Given the description of an element on the screen output the (x, y) to click on. 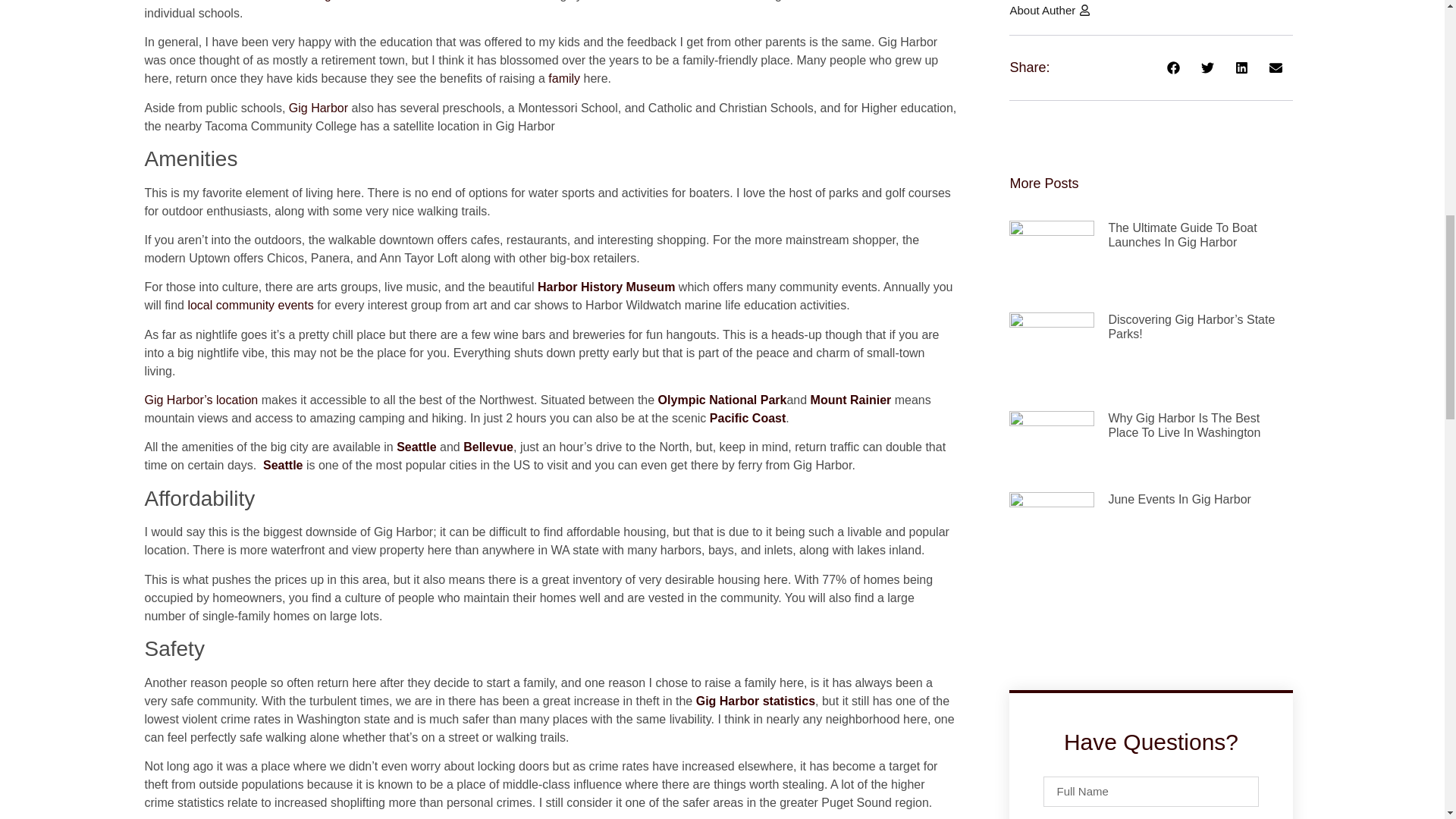
neighborhoods (348, 0)
local community events (250, 305)
Gig Harbor (317, 107)
Harbor History Museum (606, 286)
Olympic National Park (722, 399)
neighborhoods (348, 0)
family (563, 78)
family (563, 78)
